Given the description of an element on the screen output the (x, y) to click on. 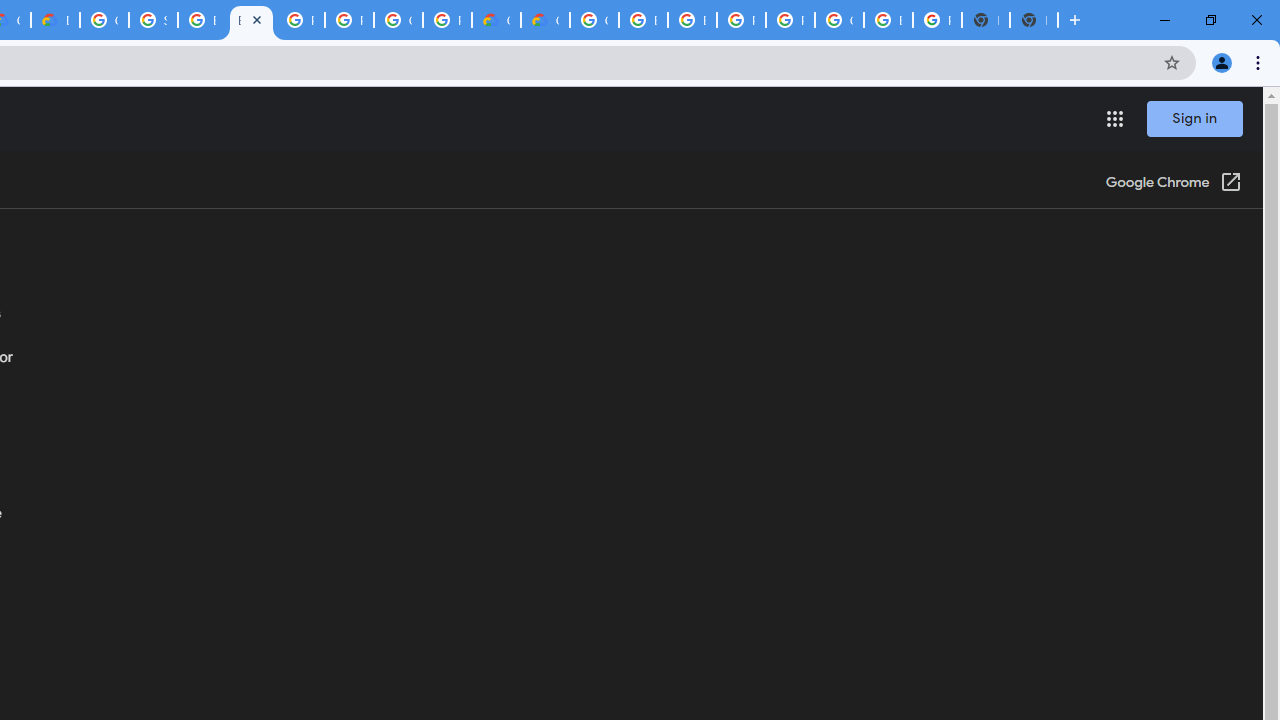
Browse Chrome as a guest - Computer - Google Chrome Help (251, 20)
Google Cloud Platform (594, 20)
Google Cloud Platform (398, 20)
Browse Chrome as a guest - Computer - Google Chrome Help (201, 20)
Sign in - Google Accounts (153, 20)
Google Cloud Platform (839, 20)
Customer Care | Google Cloud (496, 20)
